Given the description of an element on the screen output the (x, y) to click on. 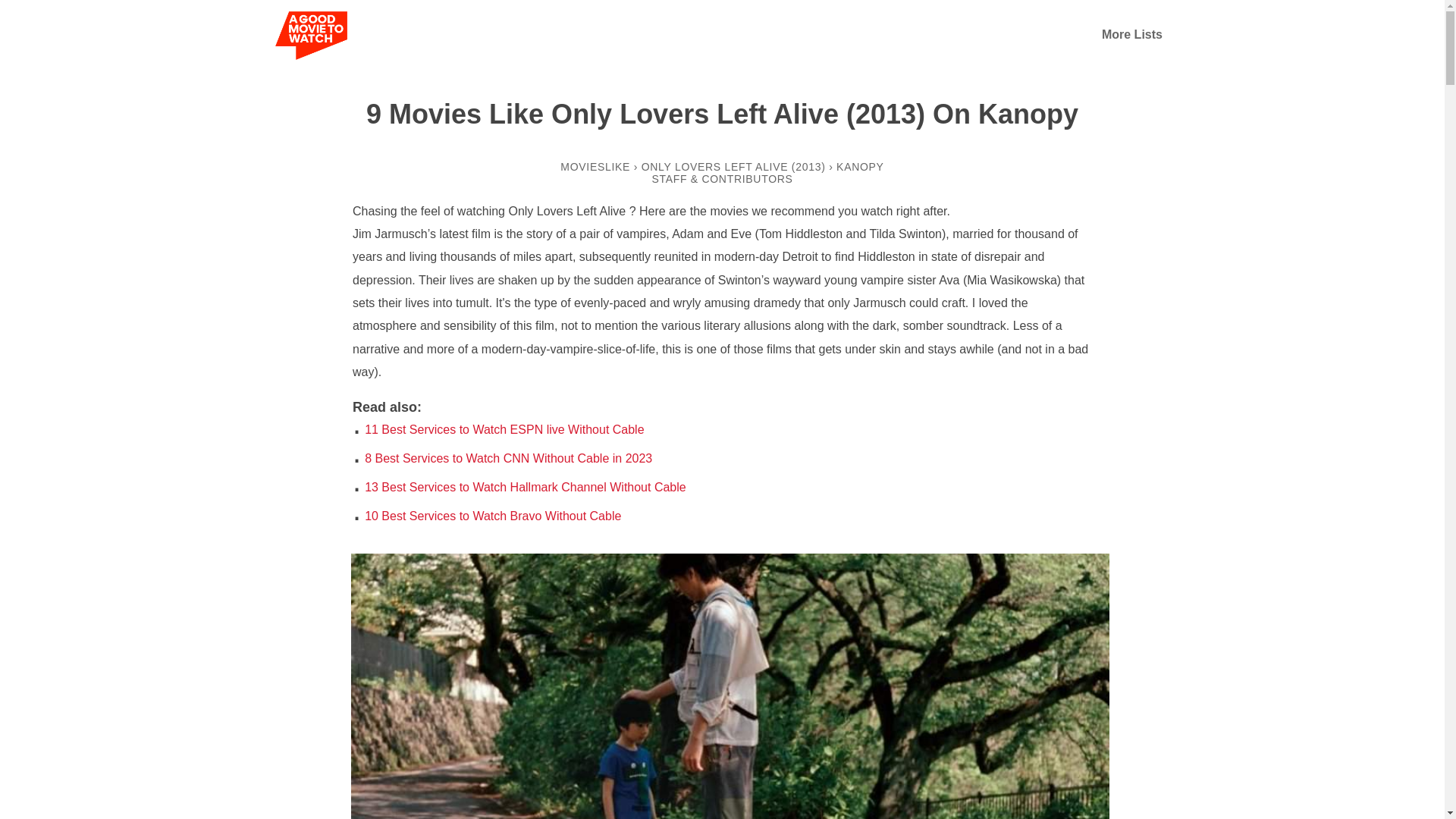
More Lists (1132, 34)
